Given the description of an element on the screen output the (x, y) to click on. 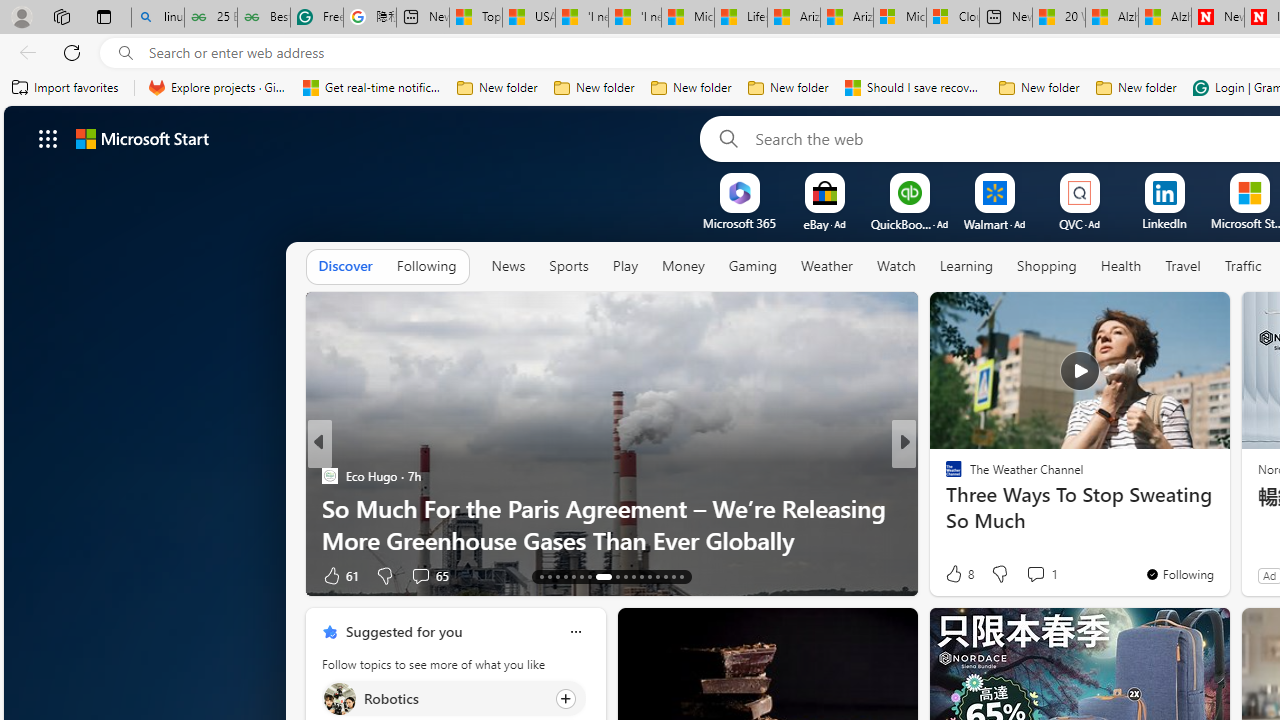
61 Like (340, 574)
Click to follow topic Robotics (453, 698)
AutomationID: tab-26 (656, 576)
Should I save recovered Word documents? - Microsoft Support (913, 88)
Suggested for you (404, 631)
Cloud Computing Services | Microsoft Azure (952, 17)
